Given the description of an element on the screen output the (x, y) to click on. 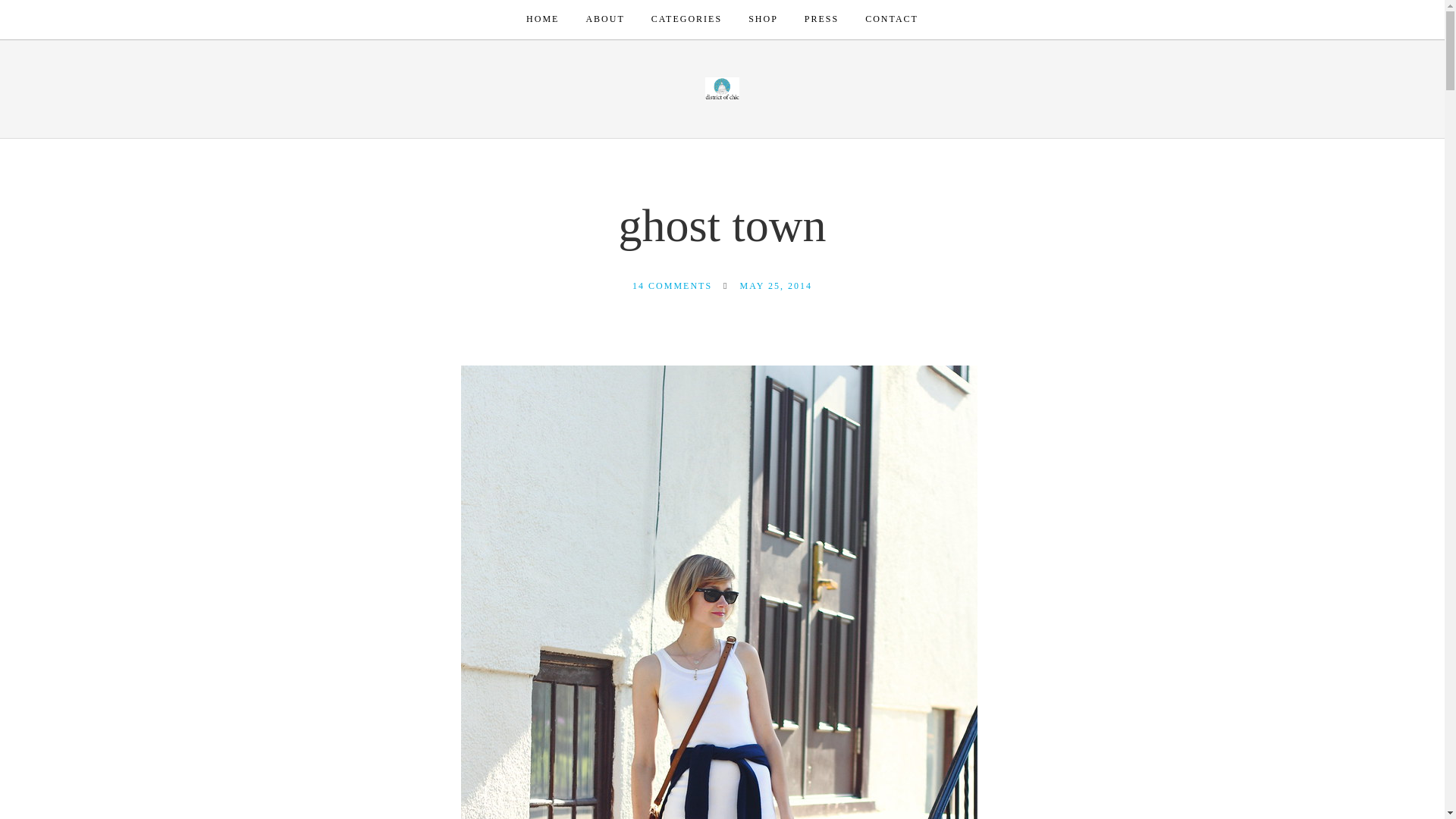
14 COMMENTS (671, 285)
ABOUT (604, 19)
SHOP (762, 19)
HOME (542, 19)
ghost town by districtofchic, on Flickr (718, 751)
Sunday, May 25, 2014, 3:37 pm (774, 285)
District of Chic (721, 87)
PRESS (821, 19)
CATEGORIES (686, 19)
CONTACT (891, 19)
